Given the description of an element on the screen output the (x, y) to click on. 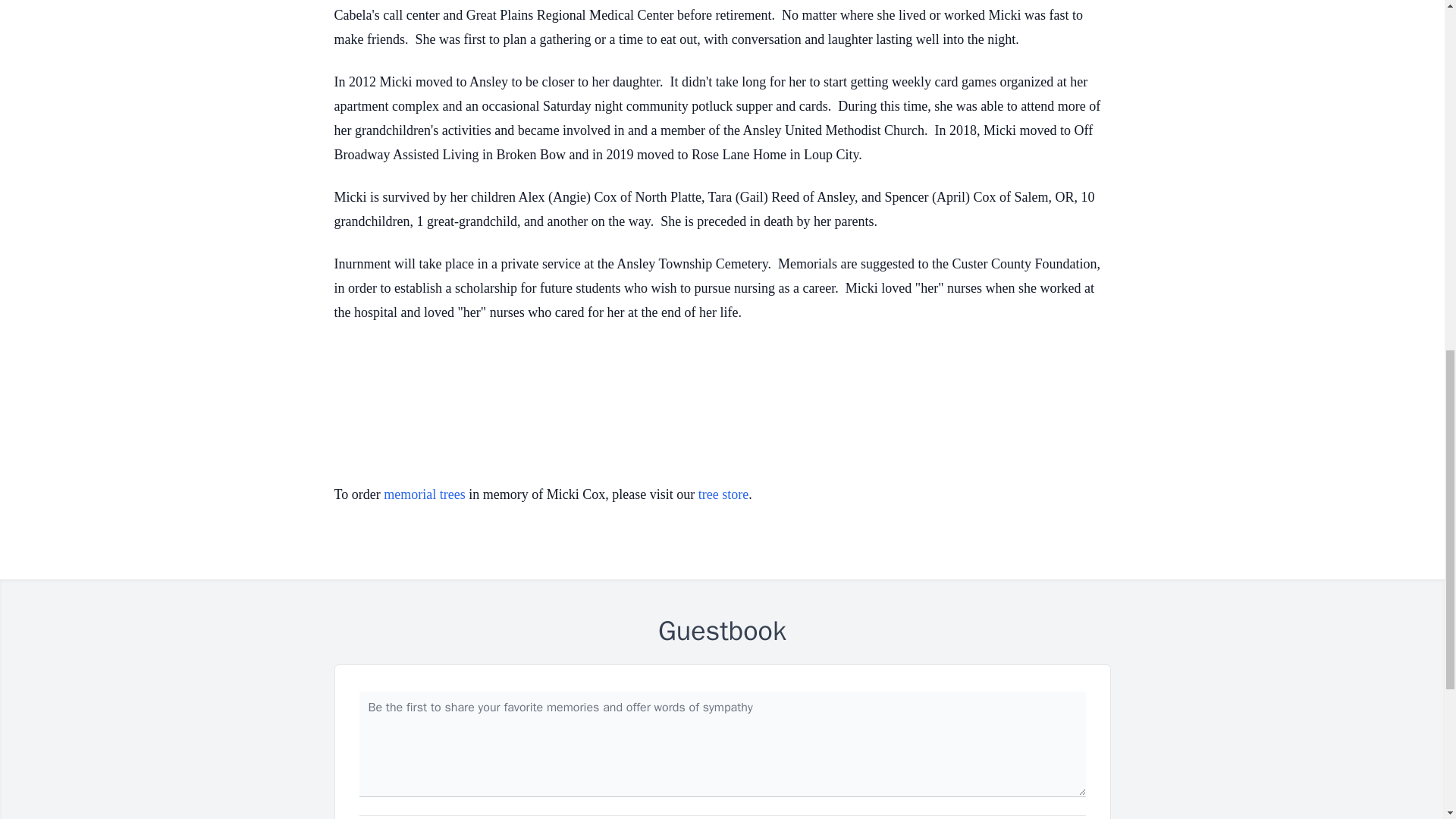
memorial trees (424, 494)
tree store (723, 494)
